Given the description of an element on the screen output the (x, y) to click on. 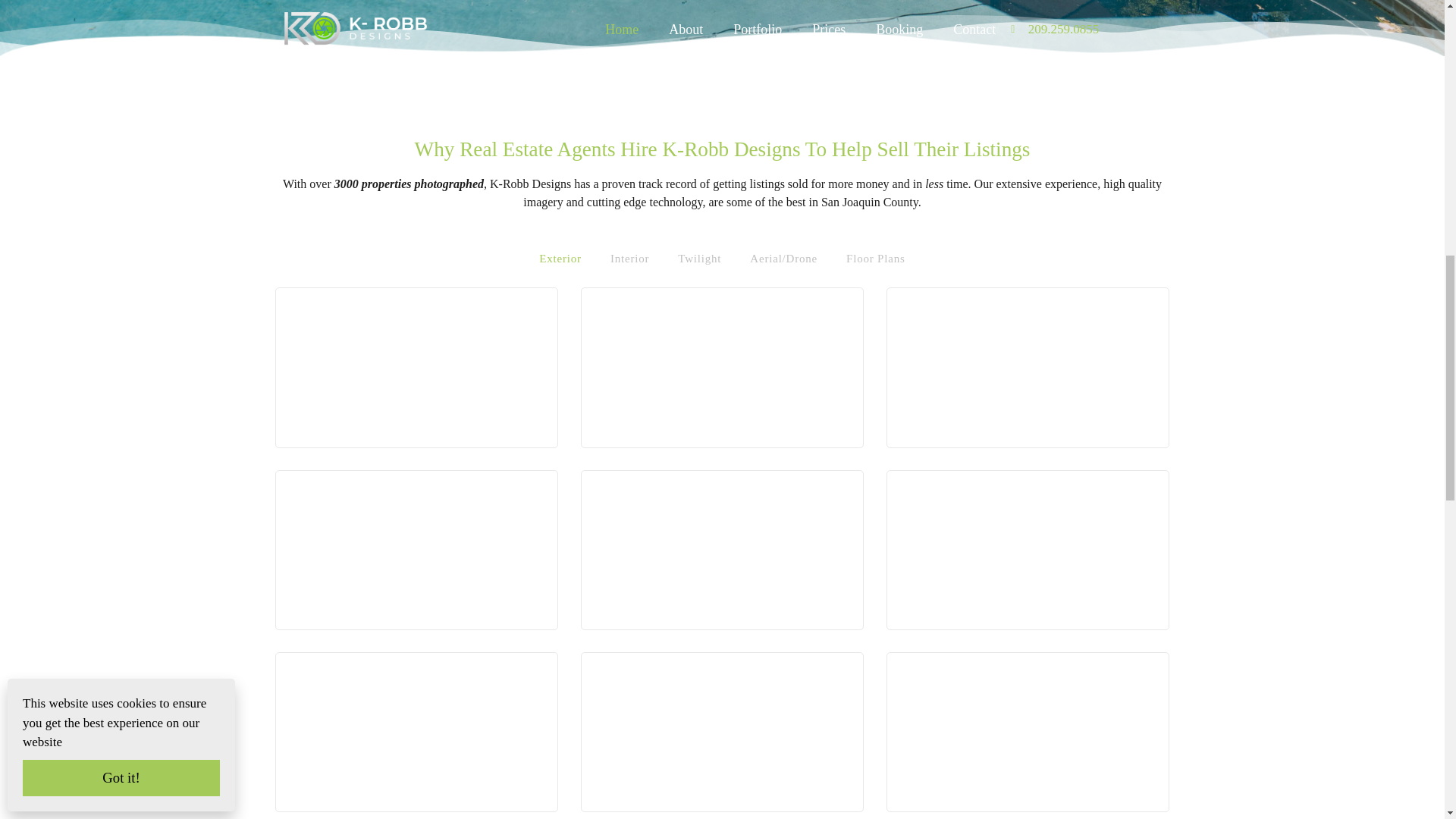
Exterior (560, 258)
Floor Plans (875, 258)
Twilight (699, 258)
Interior (629, 258)
